Given the description of an element on the screen output the (x, y) to click on. 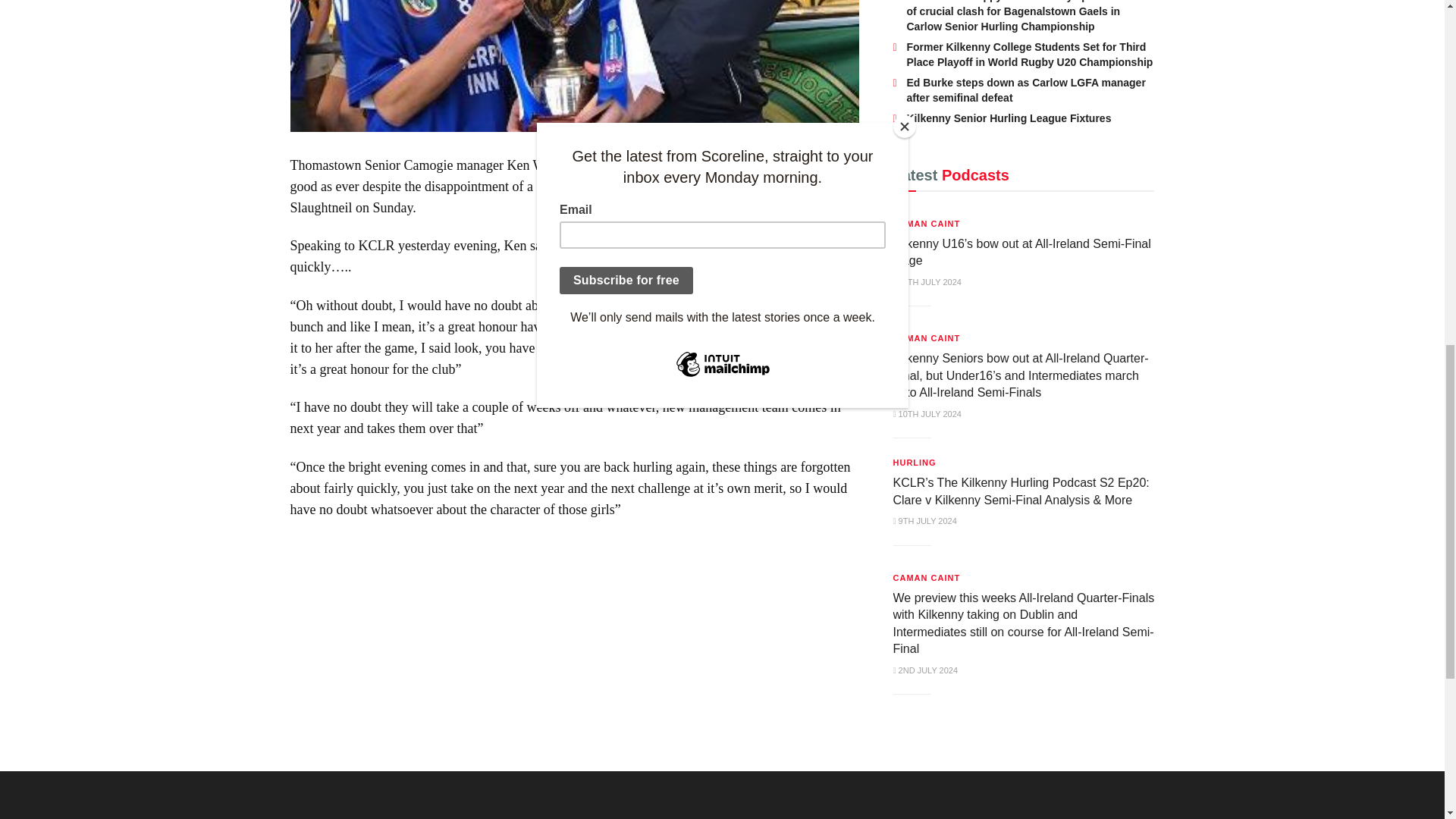
18TH JULY 2024 (926, 281)
CAMAN CAINT (926, 223)
Kilkenny Senior Hurling League Fixtures (1009, 118)
10TH JULY 2024 (926, 413)
CAMAN CAINT (926, 338)
